Given the description of an element on the screen output the (x, y) to click on. 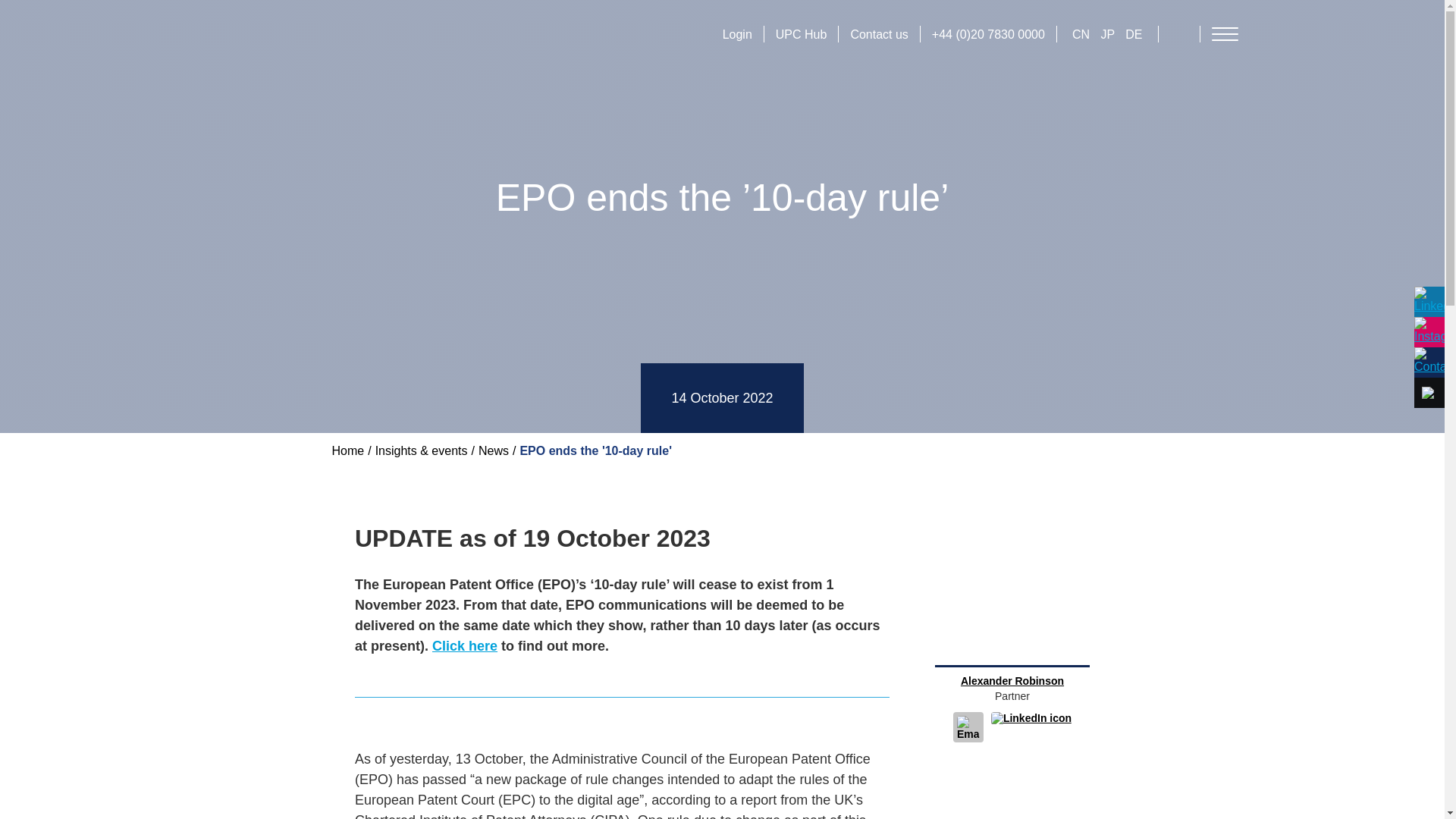
Home (348, 450)
News (493, 450)
Alexander  Robinson (1011, 681)
Contact us (878, 33)
CN (1082, 33)
JP (1109, 33)
UPC Hub (801, 33)
LinkedIn Social (1031, 726)
DE (1133, 33)
Login (737, 33)
EPO ends the '10-day rule' (595, 450)
homepage (289, 32)
